Given the description of an element on the screen output the (x, y) to click on. 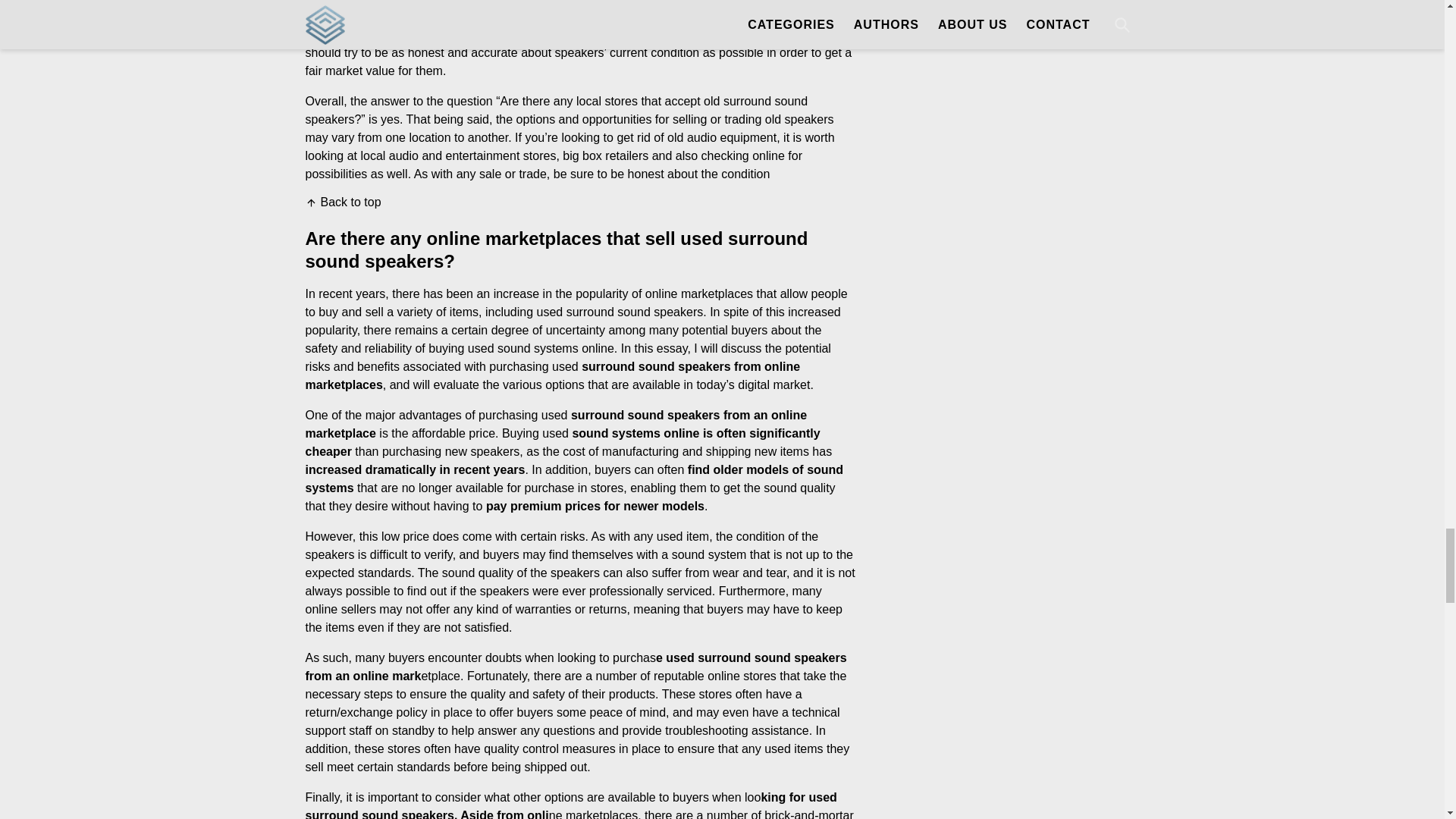
Back to top (342, 202)
